Given the description of an element on the screen output the (x, y) to click on. 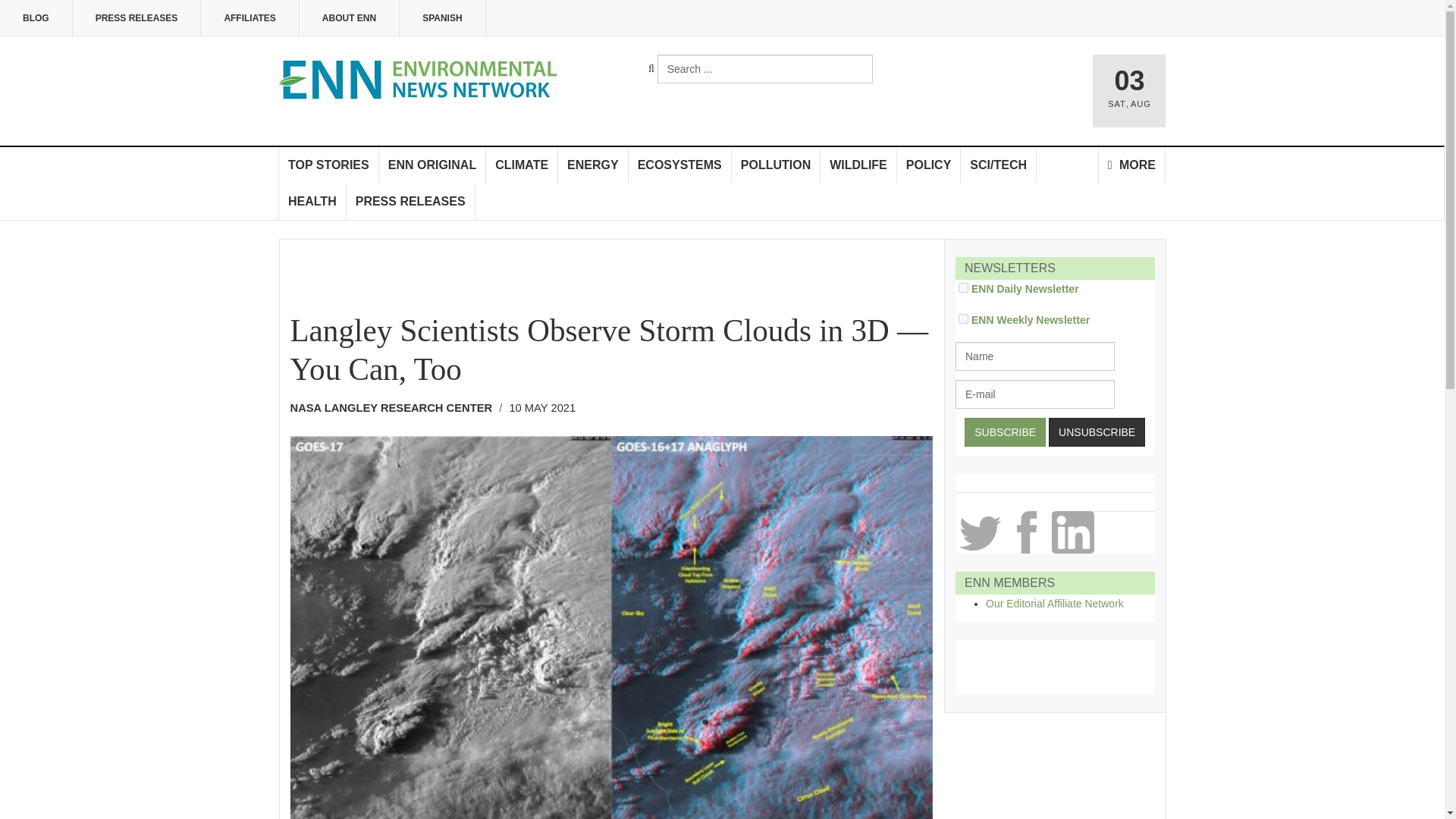
AFFILIATES (249, 18)
ENERGY (592, 165)
Unsubscribe (1096, 431)
Published:  (541, 407)
Name (1035, 356)
E-mail (1035, 394)
ENN ORIGINAL (432, 165)
BLOG (36, 18)
TOP STORIES (328, 165)
2 (963, 287)
POLLUTION (776, 165)
POLICY (928, 165)
Name (1035, 356)
E-mail (1035, 394)
Search ... (765, 68)
